Given the description of an element on the screen output the (x, y) to click on. 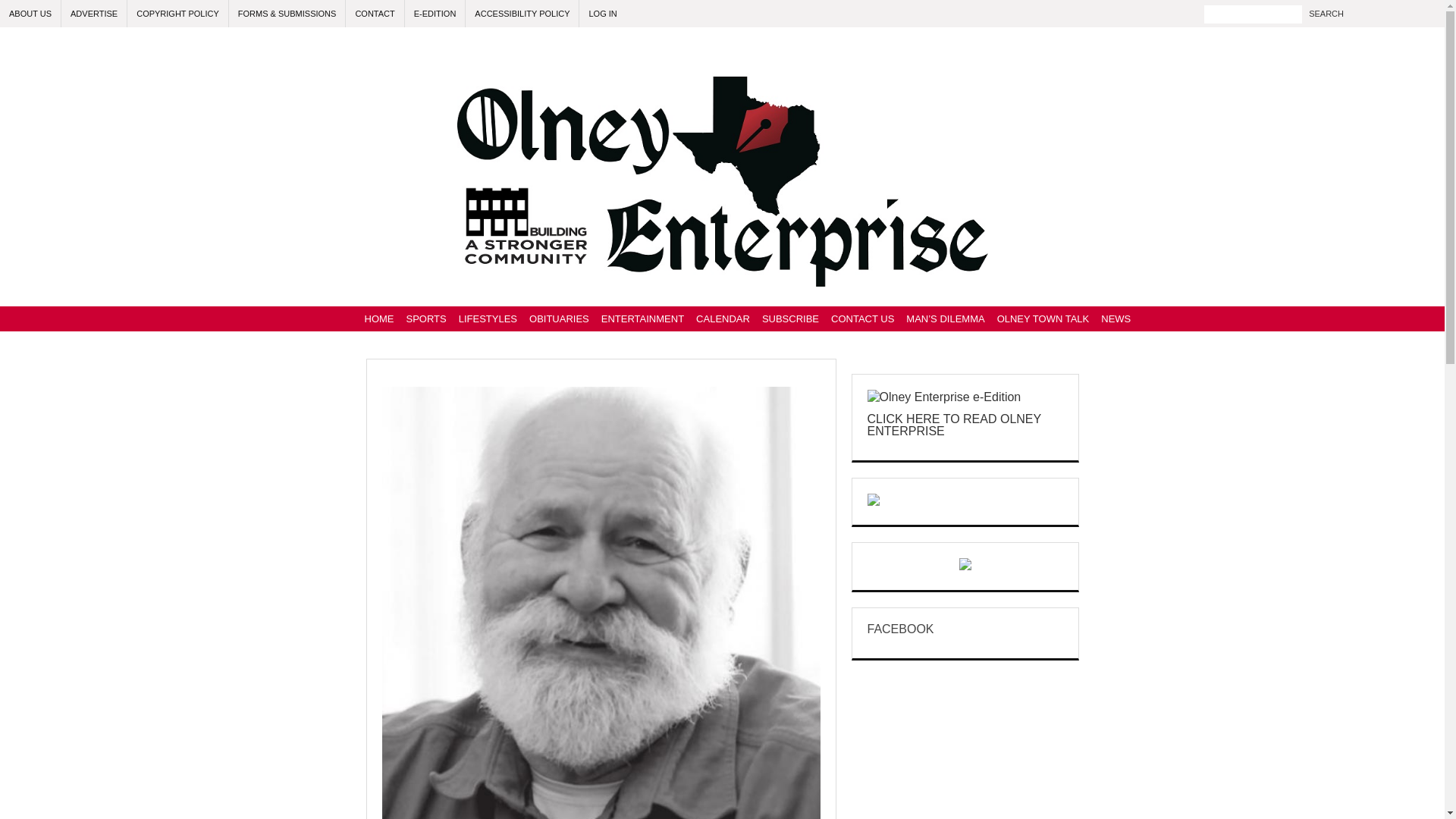
CONTACT US (862, 318)
Americans with Disabilities Act Compliance Statement (522, 13)
Log In (602, 13)
ENTERTAINMENT (642, 318)
CLICK HERE TO READ OLNEY ENTERPRISE (954, 424)
Link to e-Edition. (434, 13)
CONTACT (375, 13)
News (1115, 318)
ACCESSIBILITY POLICY (522, 13)
